Given the description of an element on the screen output the (x, y) to click on. 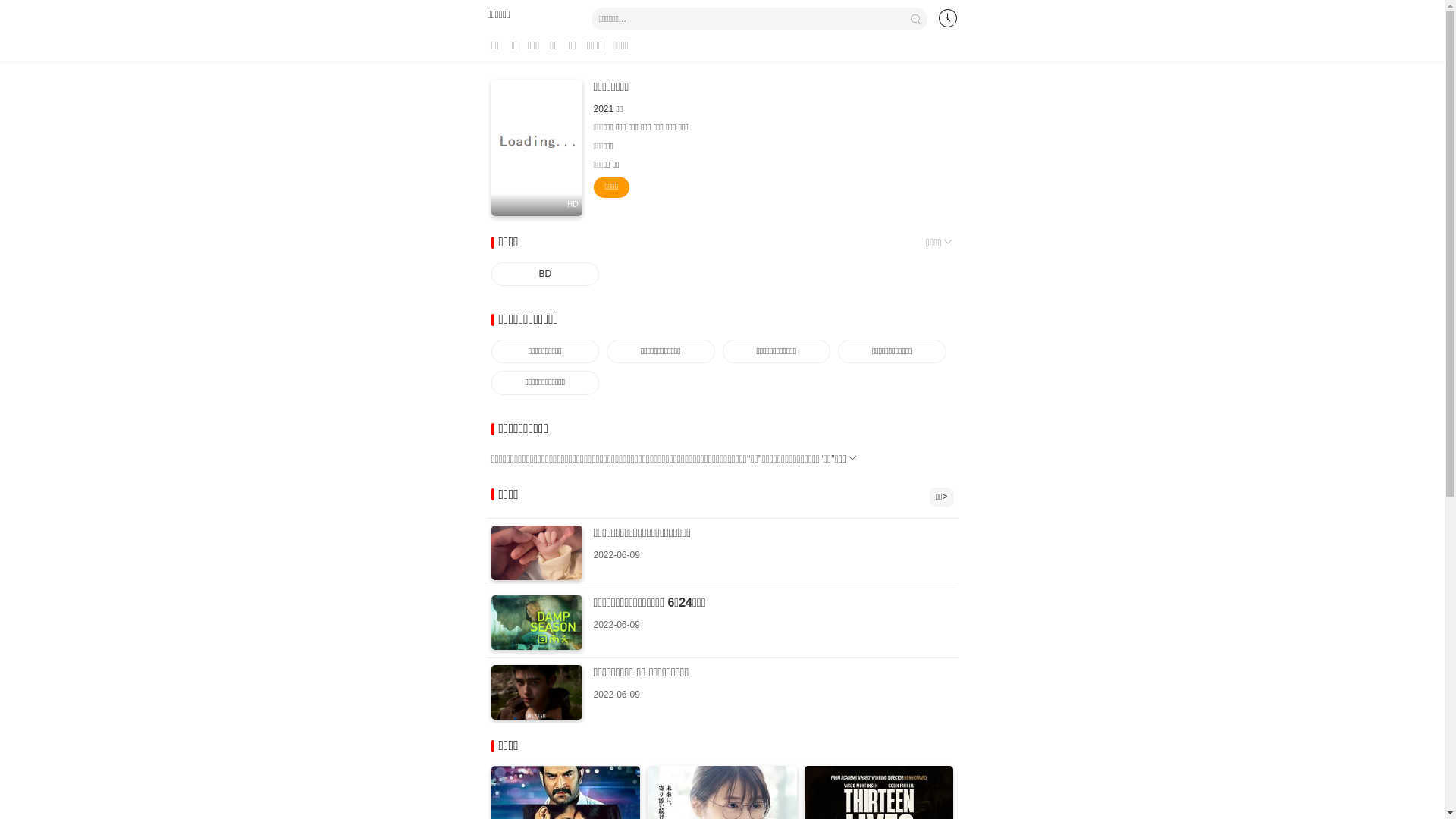
2021 Element type: text (603, 108)
HD Element type: text (536, 147)
BD Element type: text (545, 274)
